Given the description of an element on the screen output the (x, y) to click on. 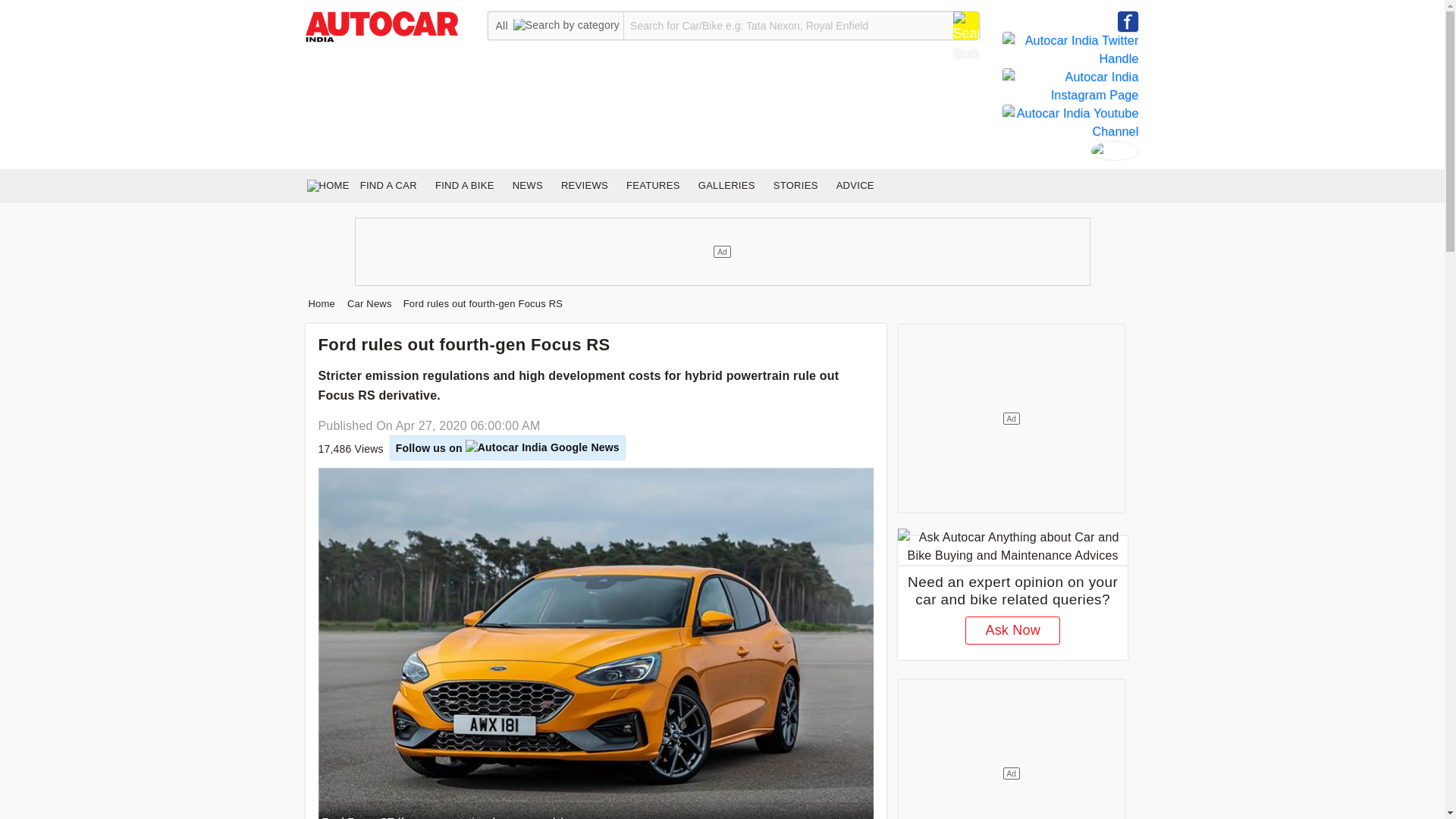
FIND A BIKE (464, 184)
FIND A CAR (388, 184)
NEWS (527, 184)
